Given the description of an element on the screen output the (x, y) to click on. 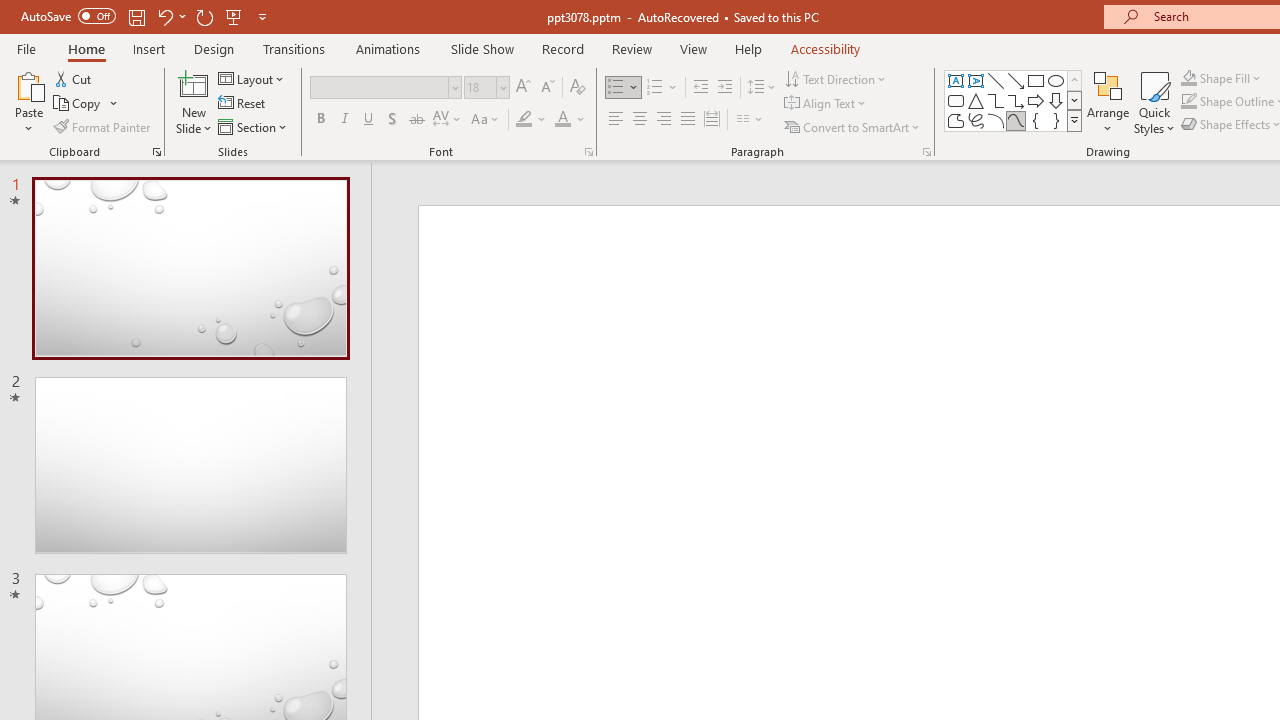
Convert to SmartArt (853, 126)
Bold (320, 119)
Left Brace (1035, 120)
Format Painter (103, 126)
Distributed (712, 119)
Text Box (955, 80)
Arrow: Down (1055, 100)
Font Color Red (562, 119)
Line (995, 80)
